Given the description of an element on the screen output the (x, y) to click on. 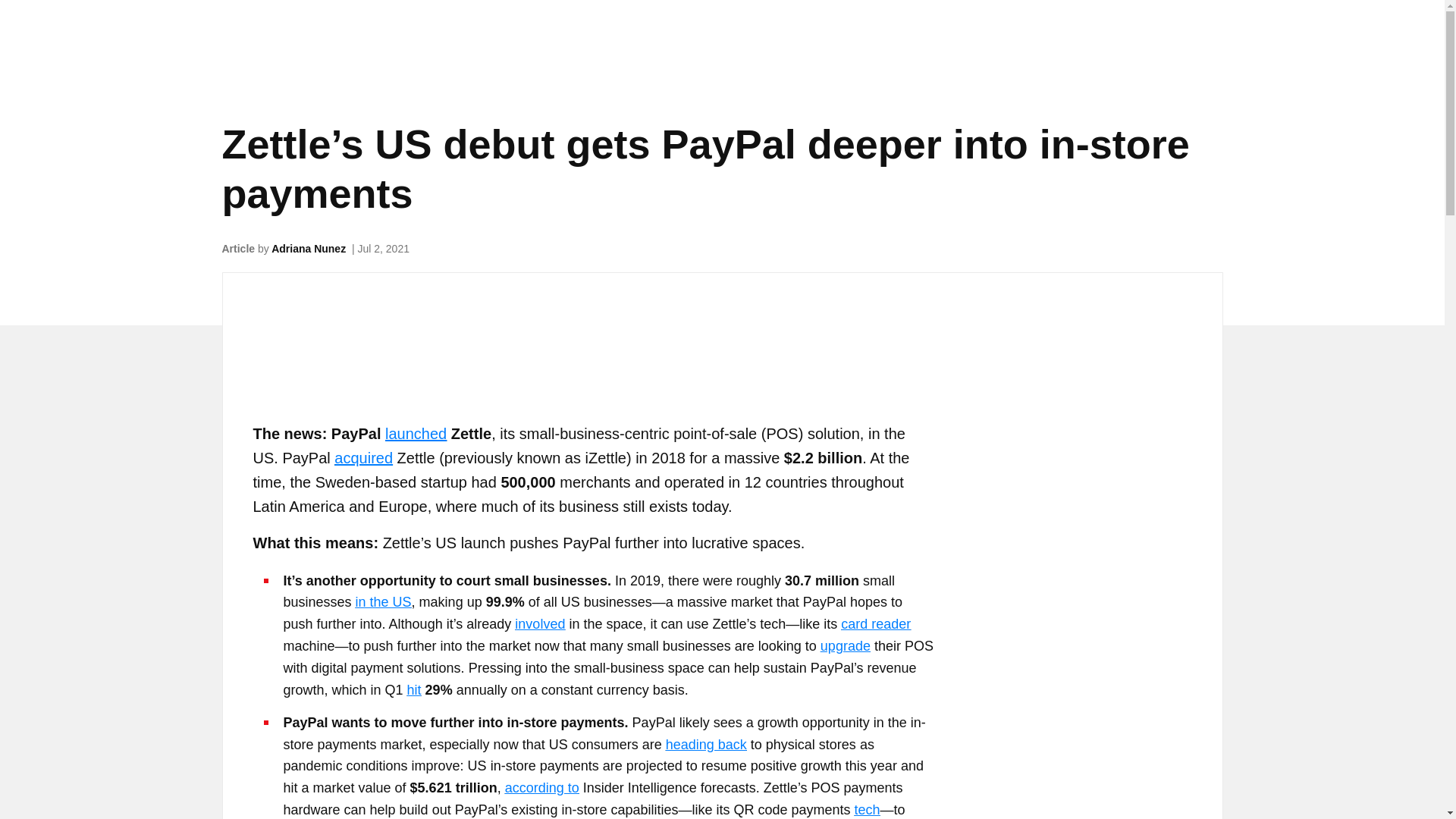
launched (415, 433)
Article (237, 248)
card reader (876, 623)
tech (867, 809)
acquired (363, 457)
according to (542, 787)
hit (414, 689)
upgrade (845, 645)
in the US (383, 601)
involved (539, 623)
heading back (705, 744)
